Given the description of an element on the screen output the (x, y) to click on. 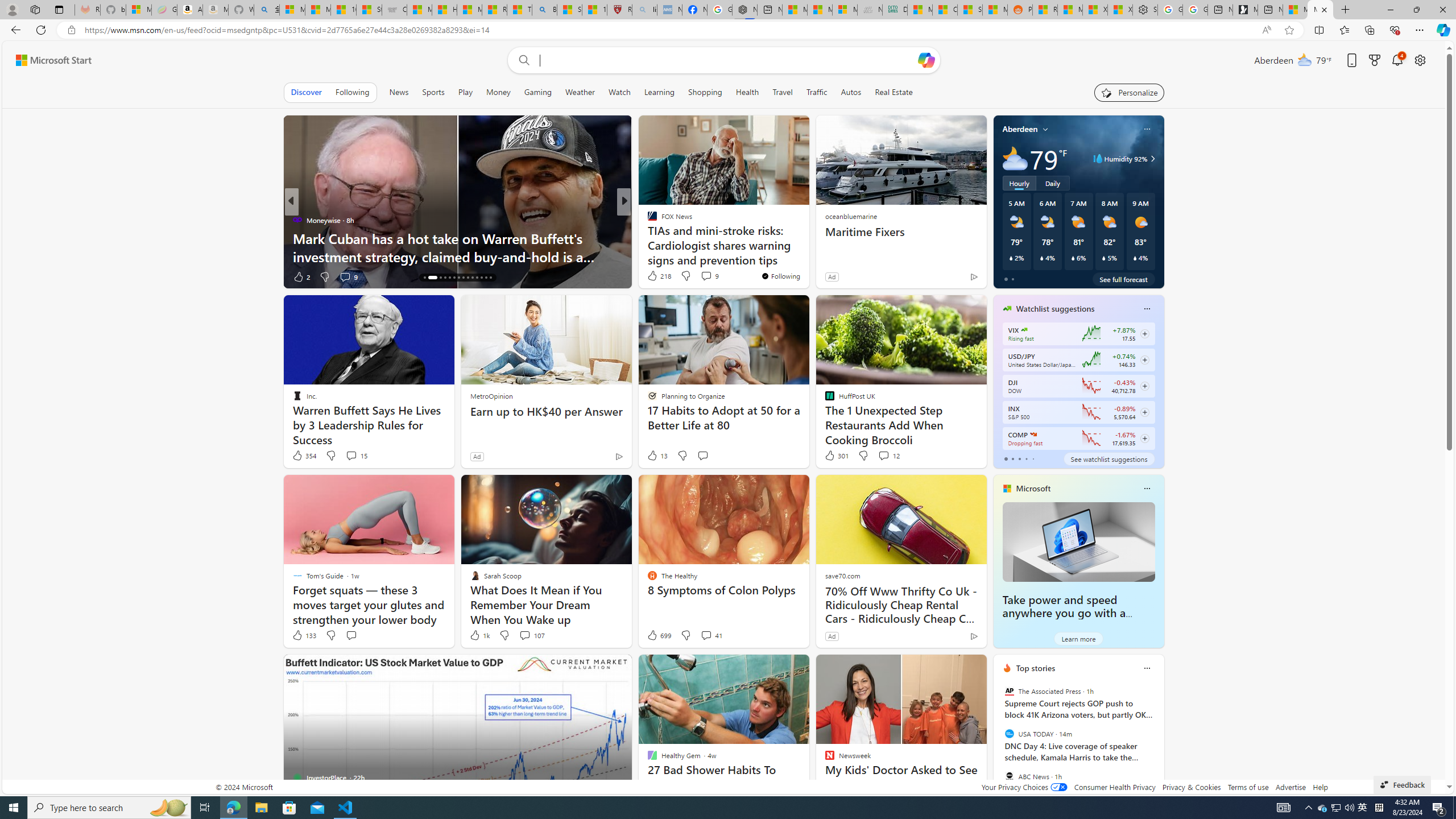
View comments 5 Comment (698, 276)
AutomationID: tab-23 (467, 277)
tab-2 (1019, 458)
tab-3 (1025, 458)
View comments 15 Comment (350, 455)
Aberdeen (1019, 128)
